Given the description of an element on the screen output the (x, y) to click on. 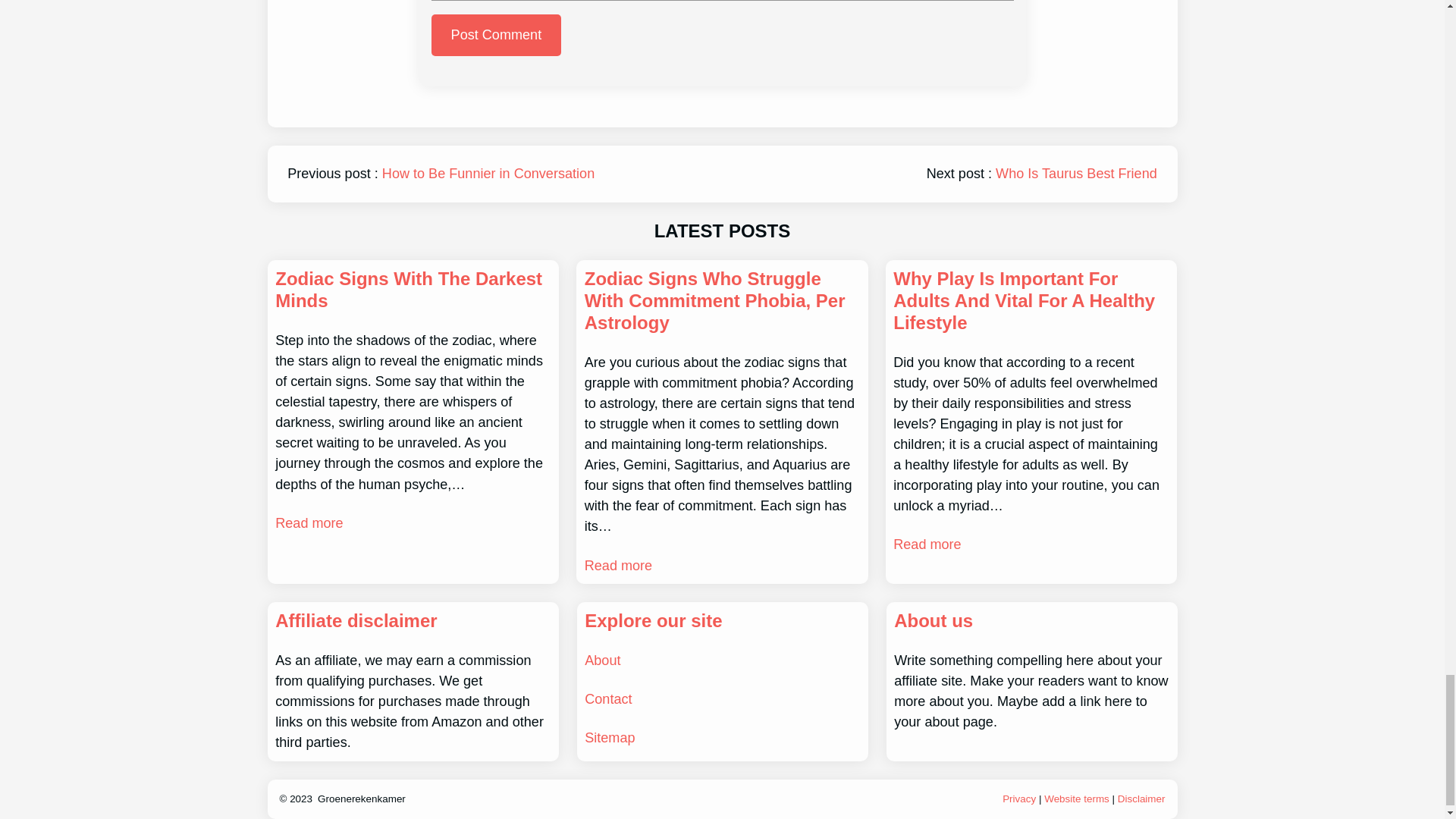
Read more (926, 544)
Read more (618, 566)
Read more (308, 523)
Post Comment (495, 35)
How to Be Funnier in Conversation (487, 173)
Groenerekenkamer (361, 798)
Website terms (1076, 798)
Who Is Taurus Best Friend (1076, 173)
Post Comment (495, 35)
